Given the description of an element on the screen output the (x, y) to click on. 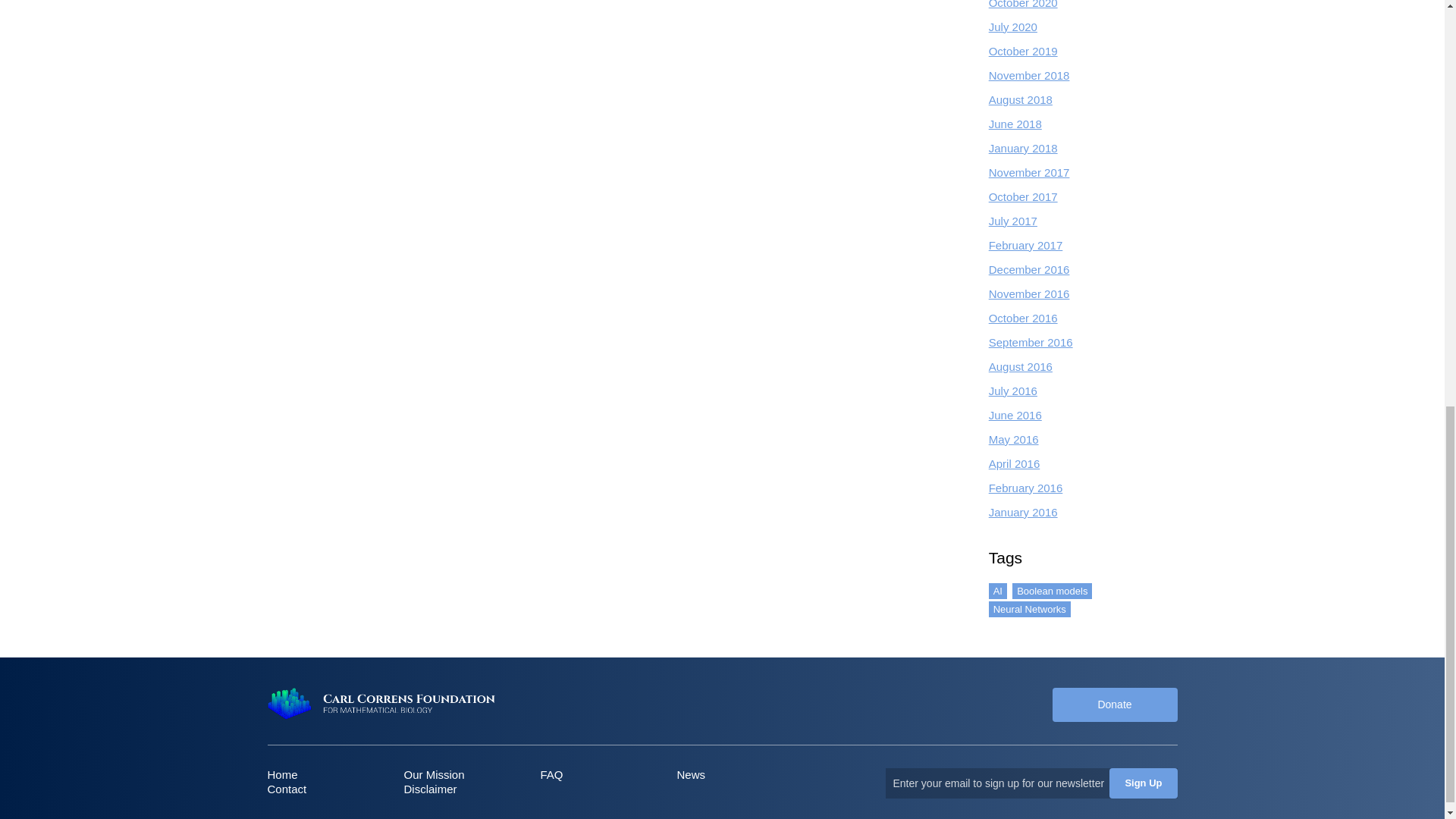
July 2020 (1012, 26)
Sign Up (1142, 783)
October 2020 (1023, 4)
